Given the description of an element on the screen output the (x, y) to click on. 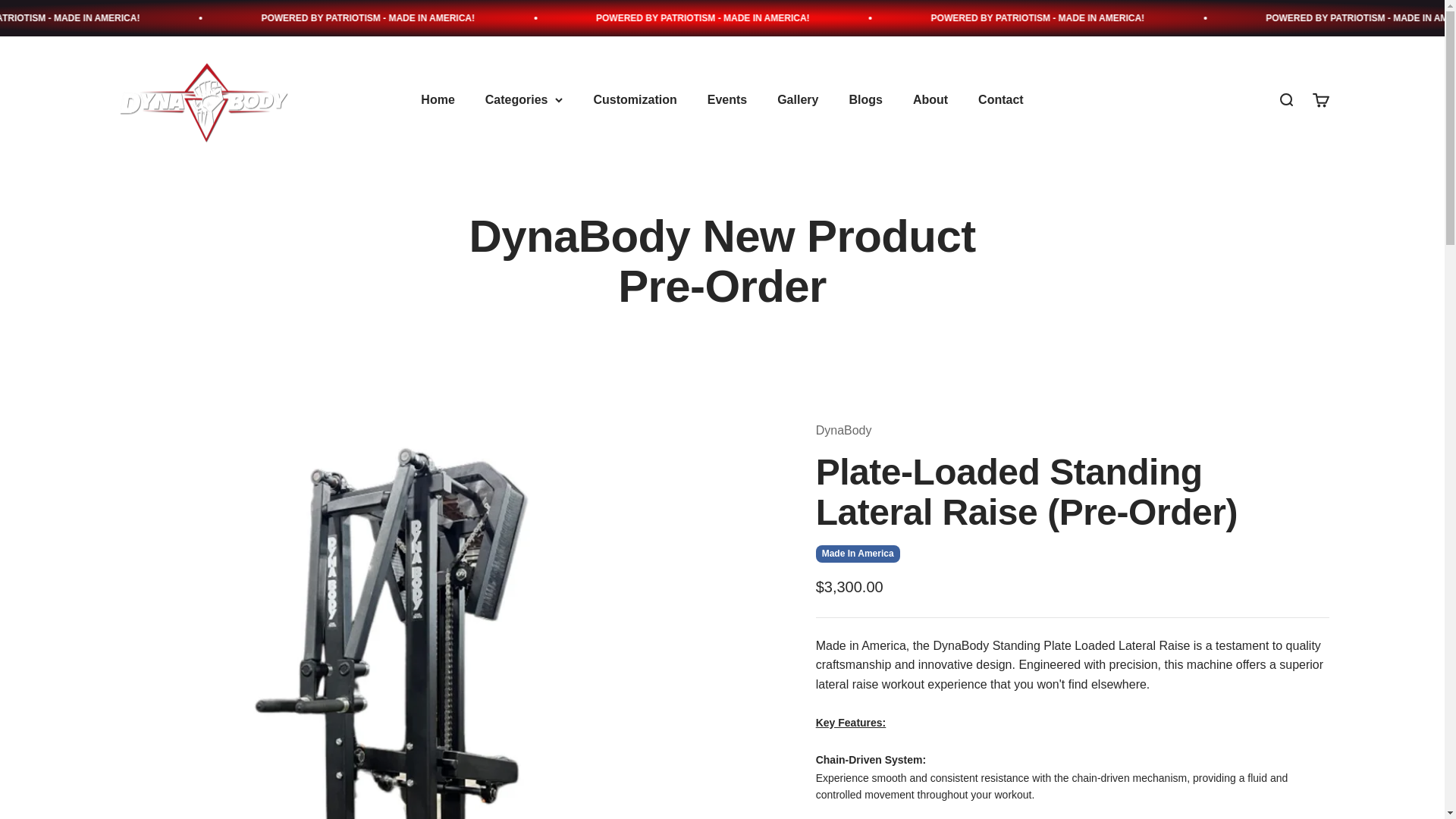
Open search (1285, 99)
About (929, 99)
Home (437, 99)
Customization (634, 99)
Contact (1000, 99)
Gallery (797, 99)
Events (726, 99)
DynaBody (1319, 99)
Blogs (204, 99)
